Given the description of an element on the screen output the (x, y) to click on. 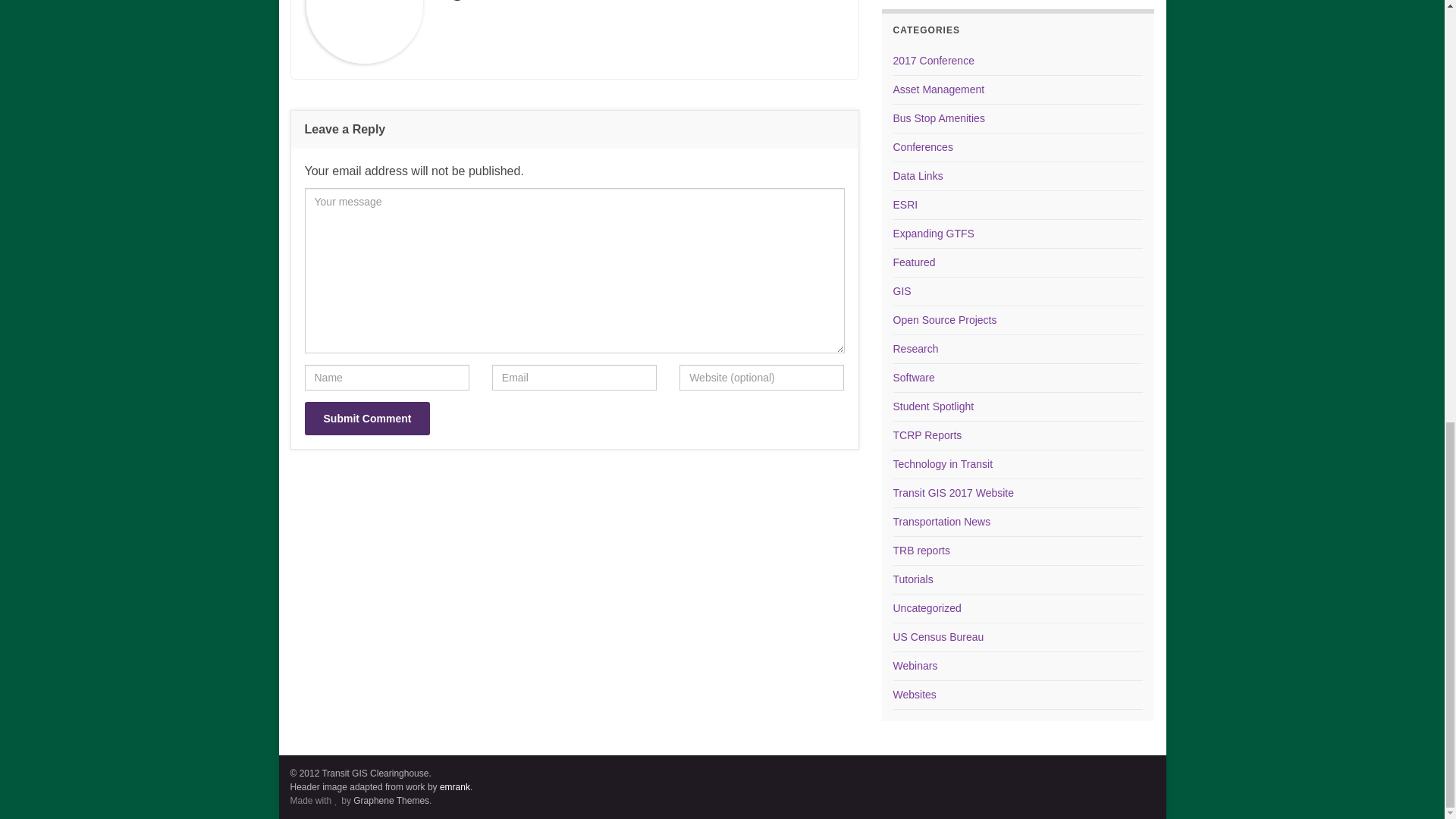
Submit Comment (367, 418)
